Given the description of an element on the screen output the (x, y) to click on. 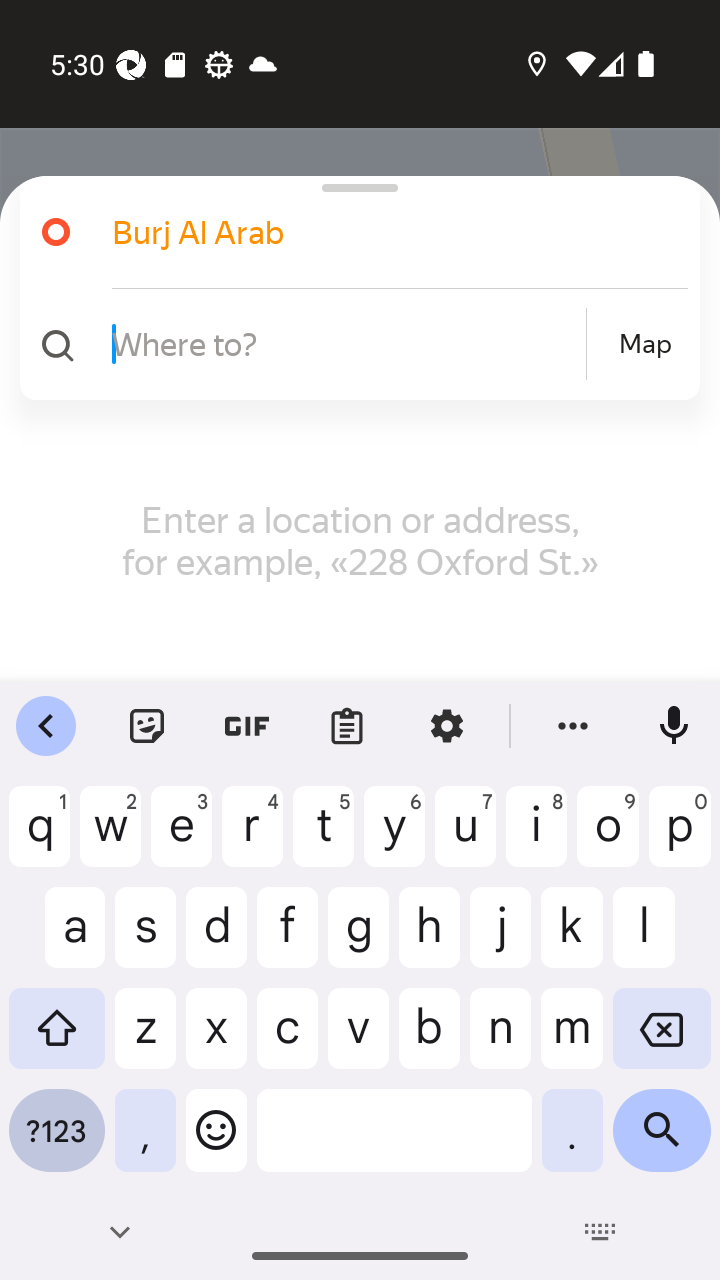
Burj Al Arab (352, 232)
Burj Al Arab (373, 232)
Where to? Map Map (352, 343)
Map (645, 343)
Where to? (346, 343)
